Given the description of an element on the screen output the (x, y) to click on. 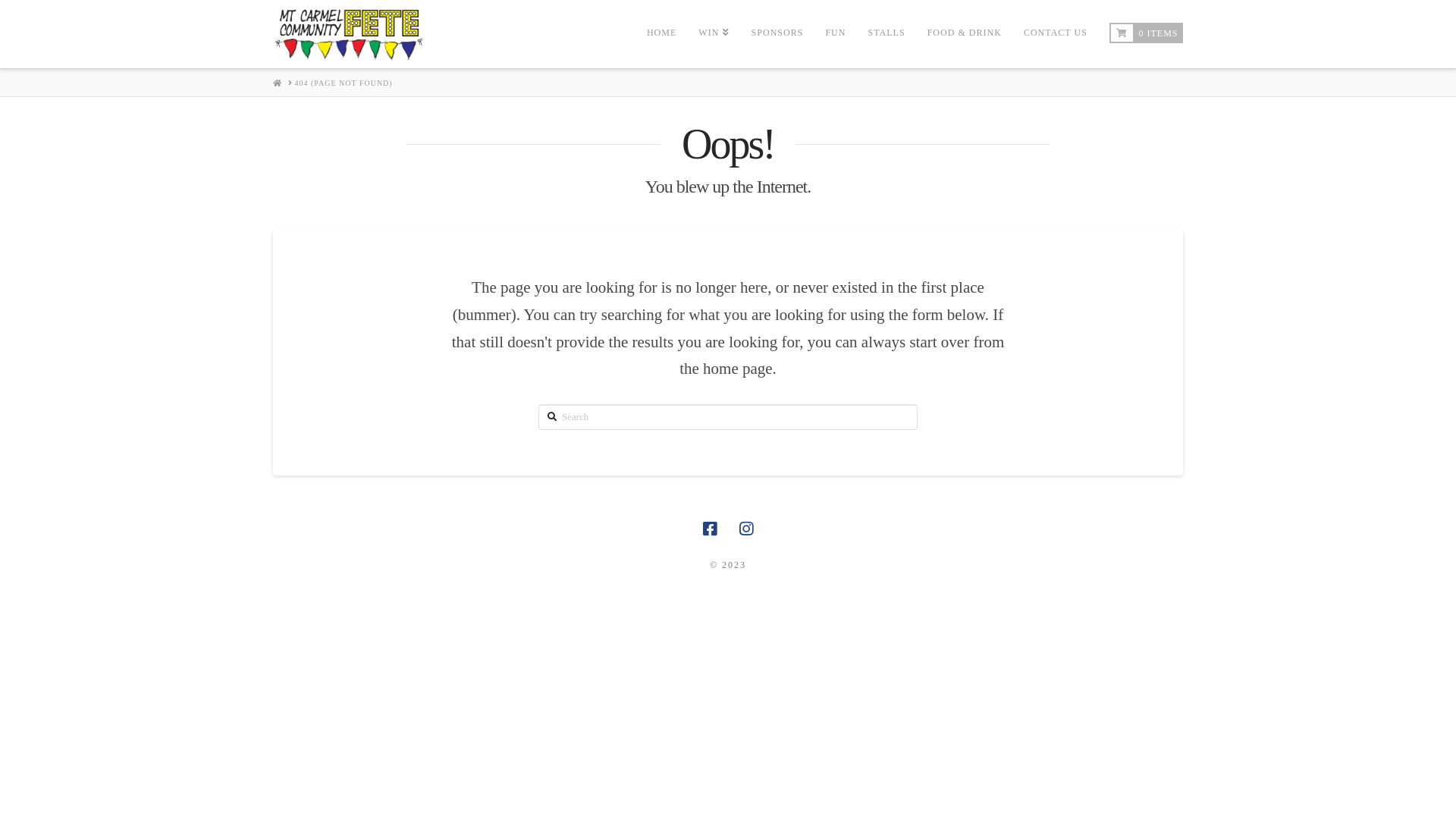
404 (PAGE NOT FOUND) Element type: text (343, 82)
HOME Element type: text (277, 82)
0 ITEMS Element type: text (1146, 34)
FUN Element type: text (834, 34)
CONTACT US Element type: text (1055, 34)
WIN Element type: text (713, 34)
Instagram Element type: hover (746, 528)
SPONSORS Element type: text (777, 34)
HOME Element type: text (661, 34)
STALLS Element type: text (885, 34)
FOOD & DRINK Element type: text (964, 34)
Facebook Element type: hover (709, 528)
